Given the description of an element on the screen output the (x, y) to click on. 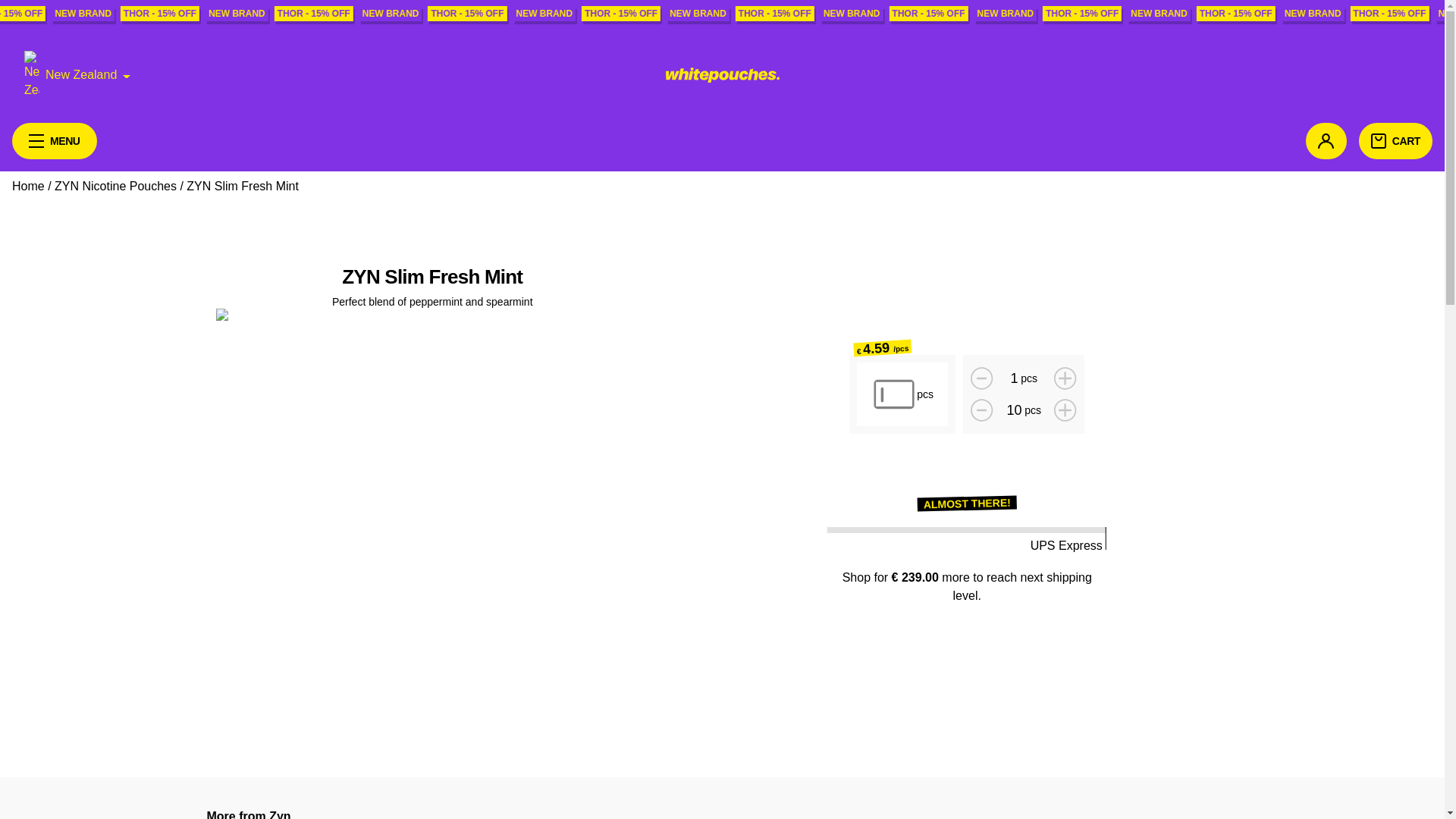
MENU (54, 140)
White Pouches (721, 74)
CART (1395, 140)
0 (893, 394)
Open menu (54, 141)
